Given the description of an element on the screen output the (x, y) to click on. 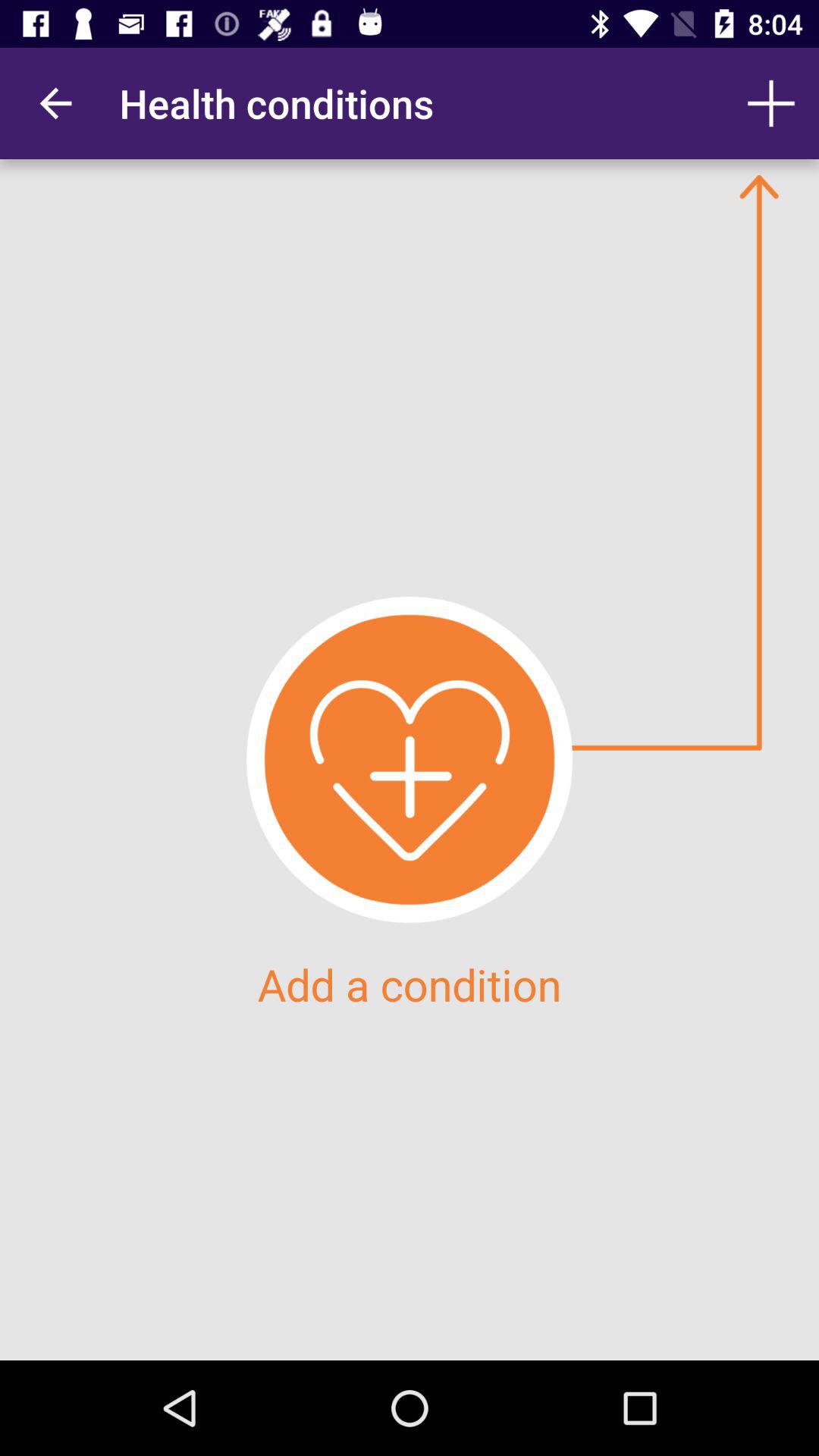
press the app next to health conditions item (55, 103)
